Given the description of an element on the screen output the (x, y) to click on. 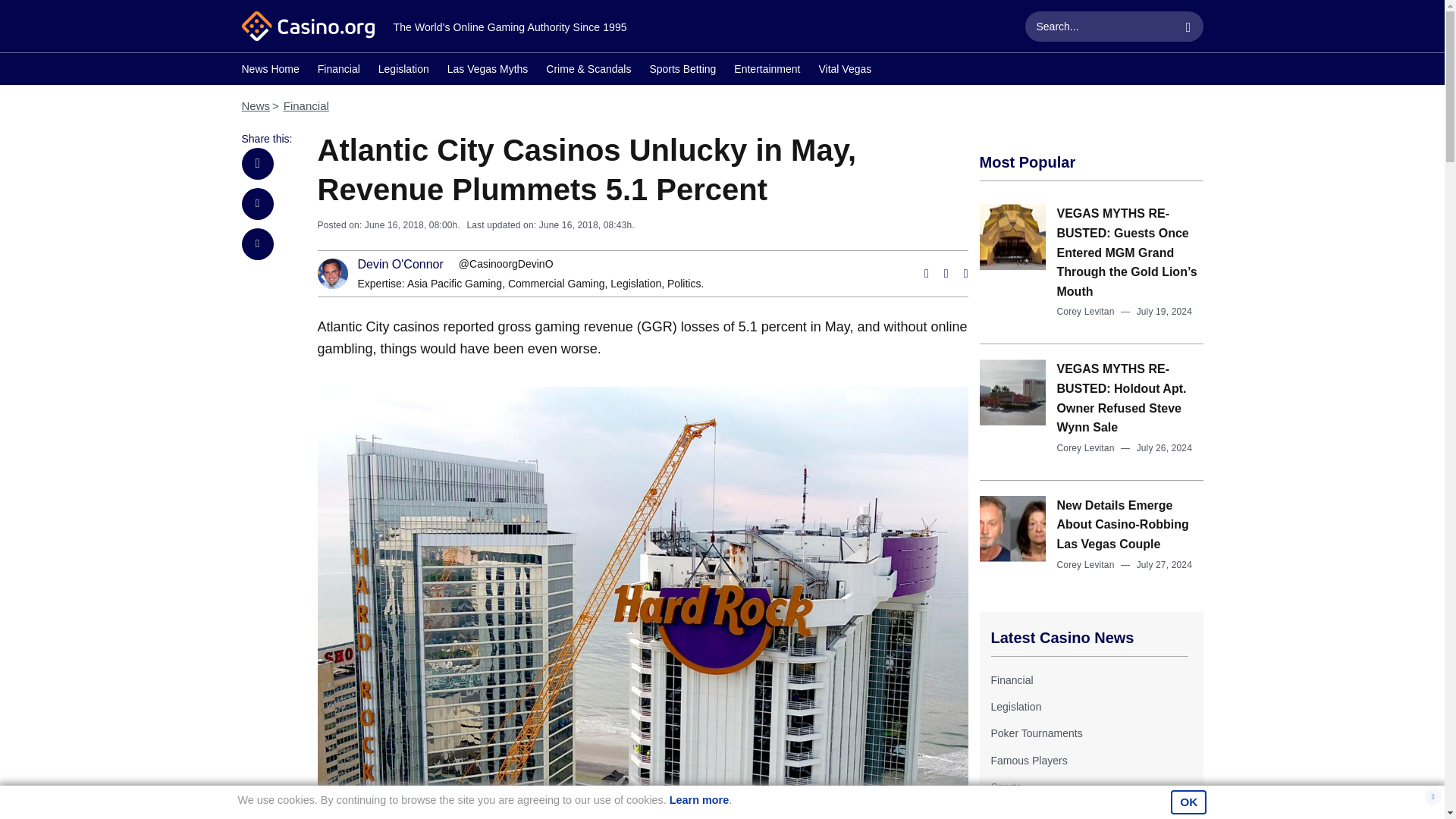
News (255, 105)
Legislation (1015, 706)
Legislation (403, 70)
Legislation (635, 283)
Financial (338, 70)
Politics (683, 283)
News Home (269, 70)
Devin O'Connor (401, 264)
Famous Players (1028, 760)
Corey Levitan (1086, 311)
Mobile Gaming (1025, 813)
Devin O'Connor (401, 264)
Legislation (635, 283)
Financial (1011, 680)
Financial (306, 105)
